Given the description of an element on the screen output the (x, y) to click on. 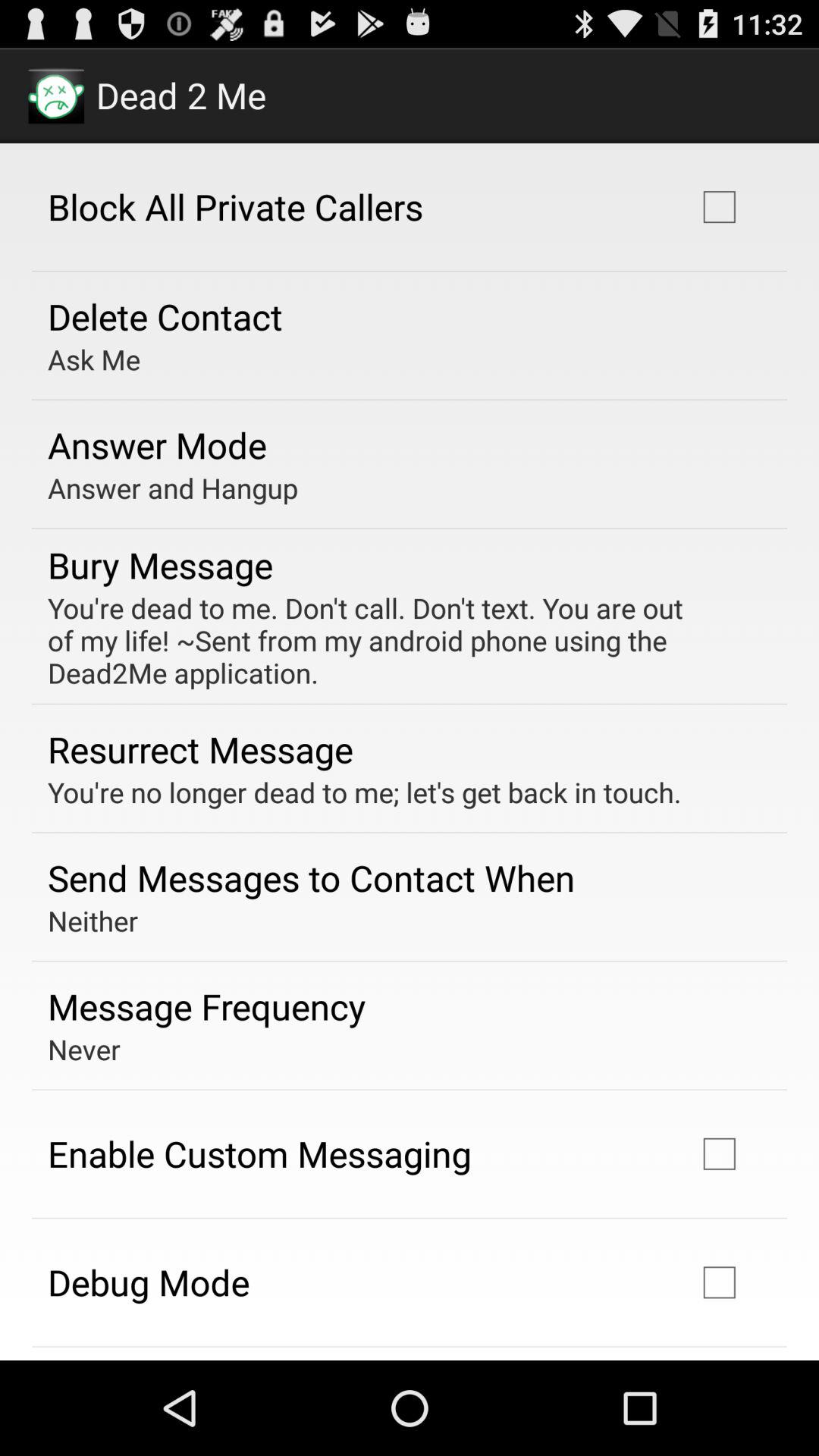
click the item below delete contact item (93, 359)
